Given the description of an element on the screen output the (x, y) to click on. 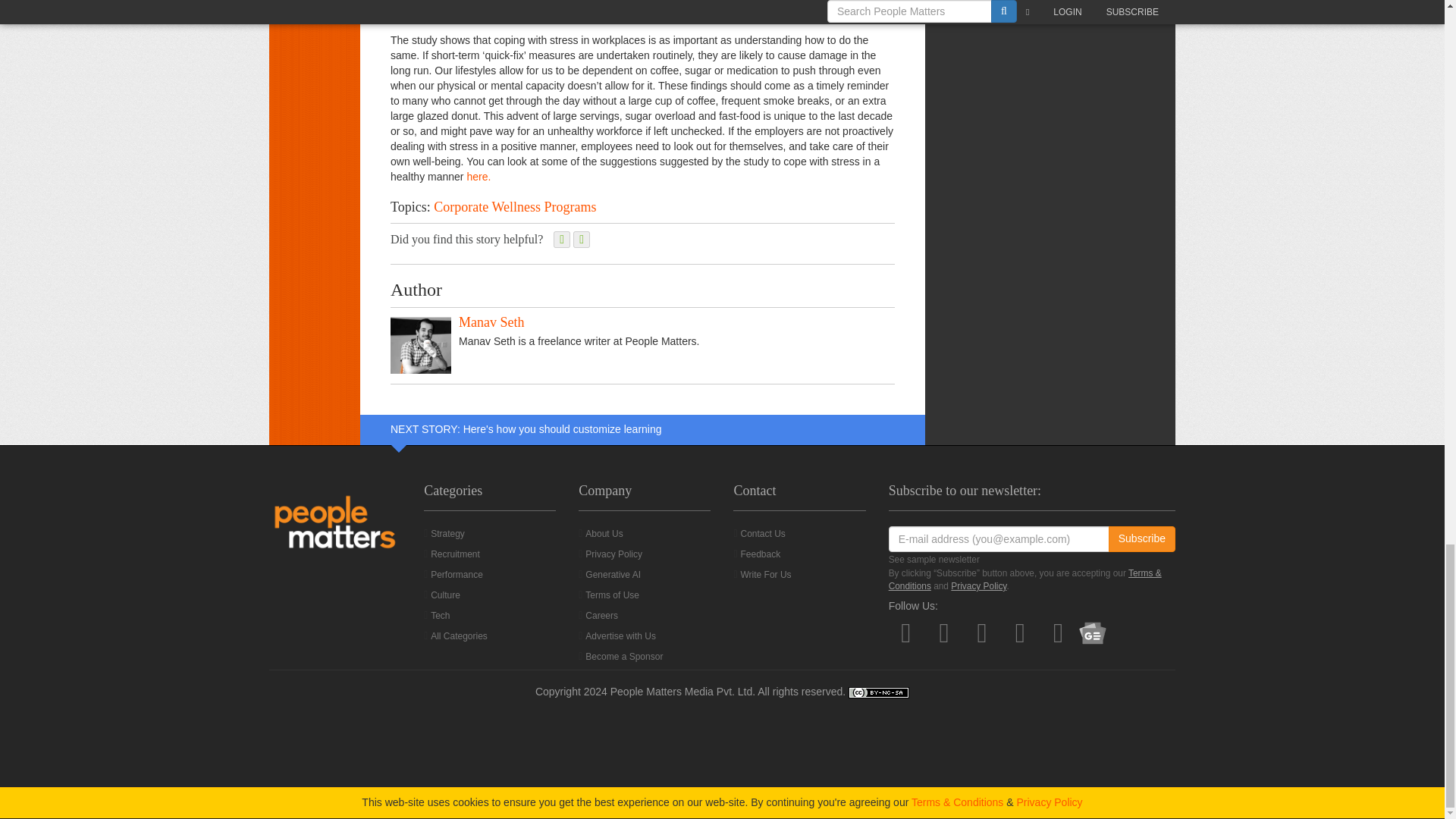
Browse more in: Corporate Wellness Programs (514, 206)
PR newswire (477, 176)
